Given the description of an element on the screen output the (x, y) to click on. 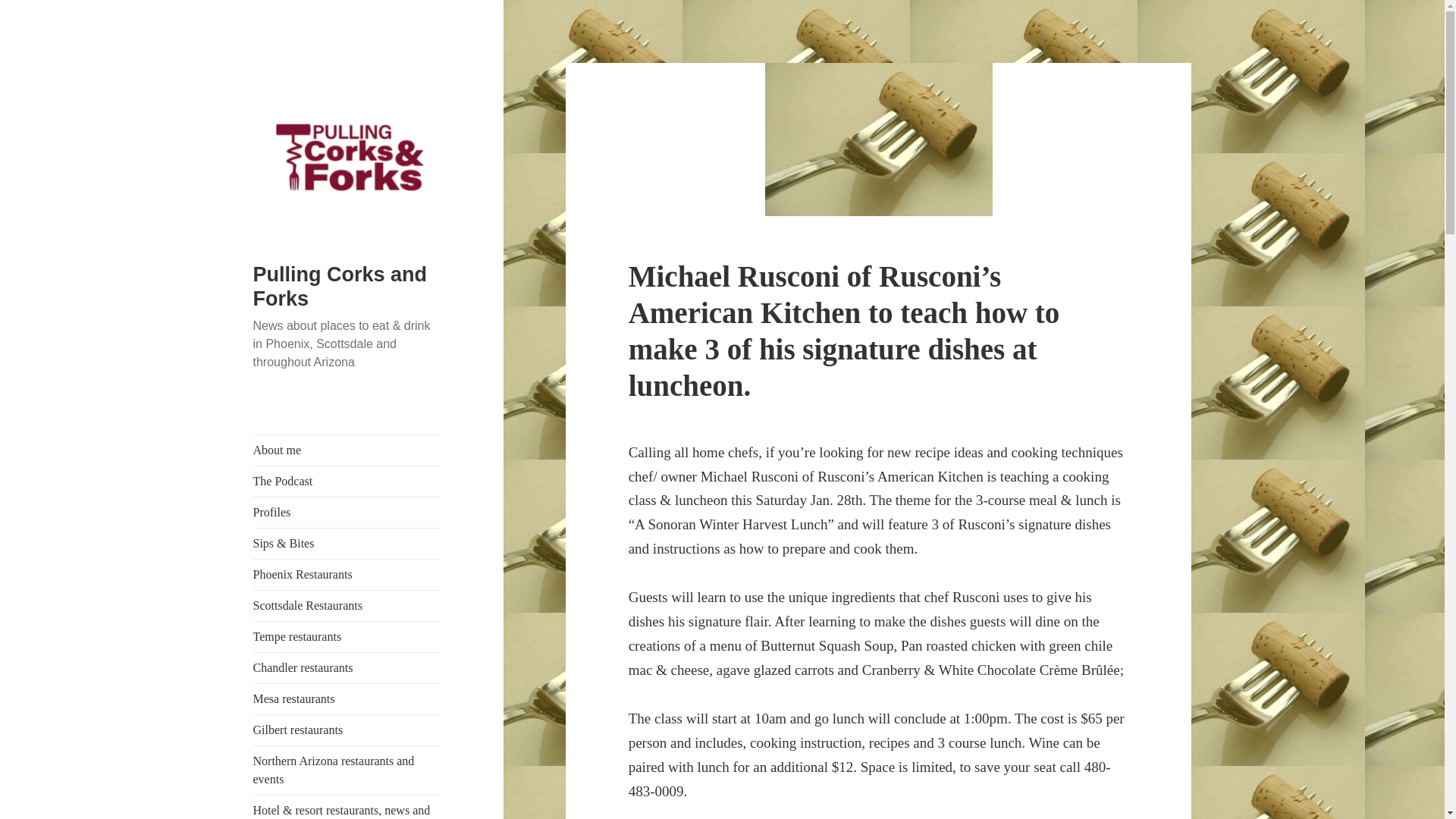
Northern Arizona restaurants and events (347, 770)
Mesa restaurants (347, 698)
The Podcast (347, 481)
Tempe restaurants (347, 636)
Gilbert restaurants (347, 729)
Profiles (347, 512)
Chandler restaurants (347, 667)
About me (347, 450)
Phoenix Restaurants (347, 574)
Scottsdale Restaurants (347, 605)
